Given the description of an element on the screen output the (x, y) to click on. 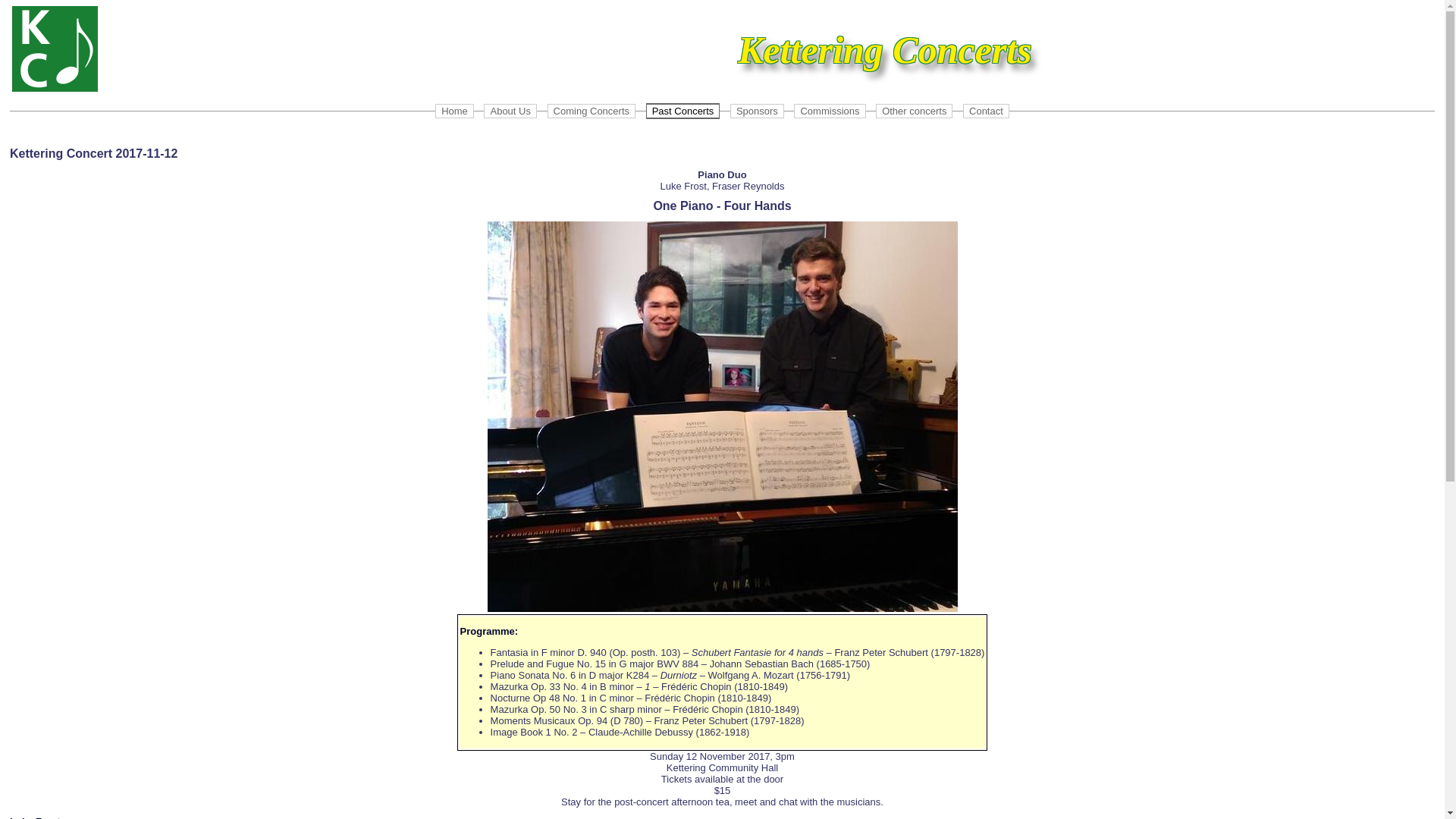
Home Element type: text (454, 110)
Sponsors Element type: text (757, 110)
Other concerts Element type: text (913, 110)
About Us Element type: text (509, 110)
Commissions Element type: text (829, 110)
Coming Concerts Element type: text (591, 110)
Kettering Concerts Element type: hover (54, 48)
Past Concerts Element type: text (683, 111)
Contact Element type: text (986, 110)
